Given the description of an element on the screen output the (x, y) to click on. 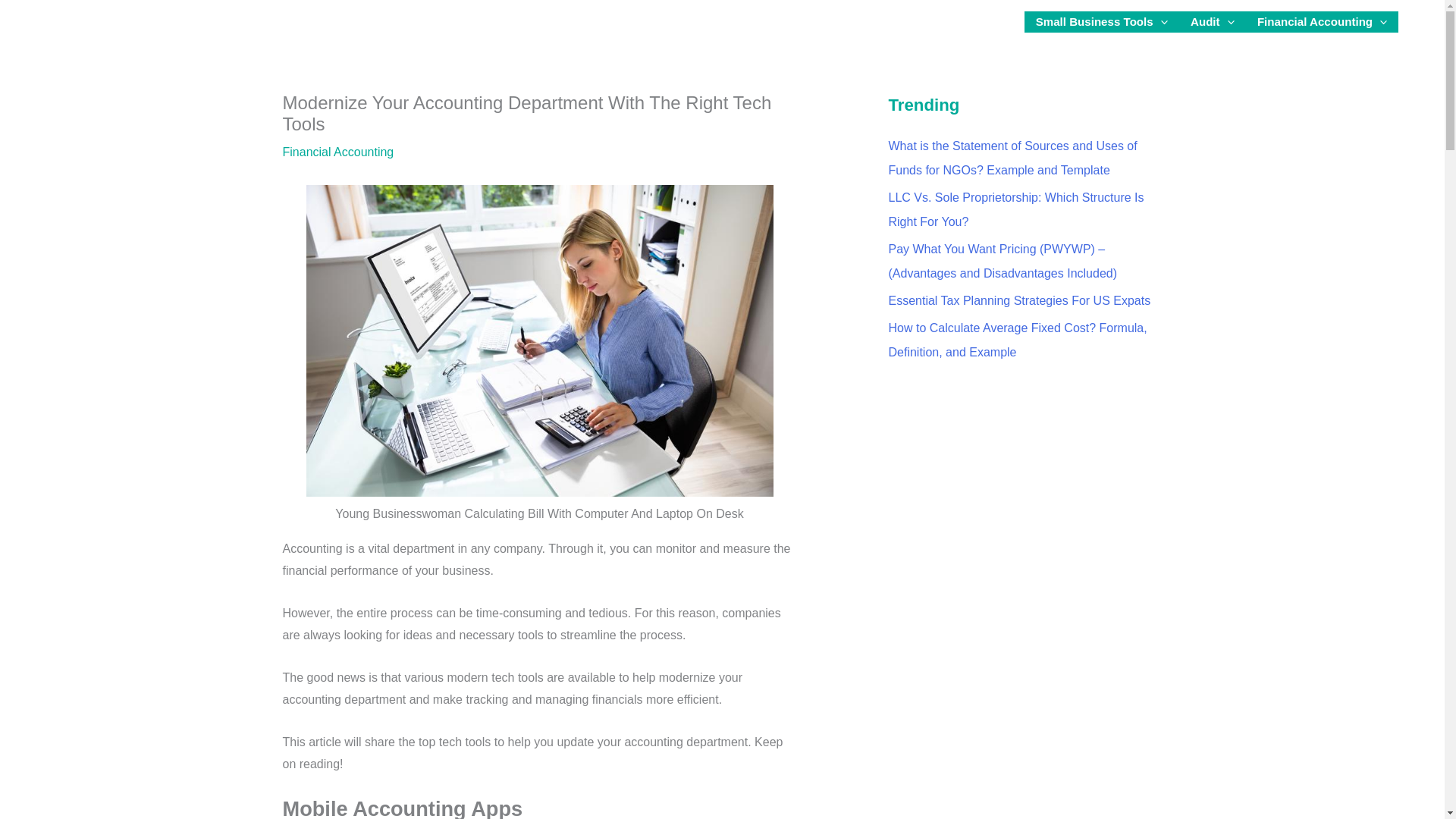
Financial Accounting (1322, 21)
Wikiaccounting (73, 21)
Small Business Tools (1102, 21)
Audit (1212, 21)
